Given the description of an element on the screen output the (x, y) to click on. 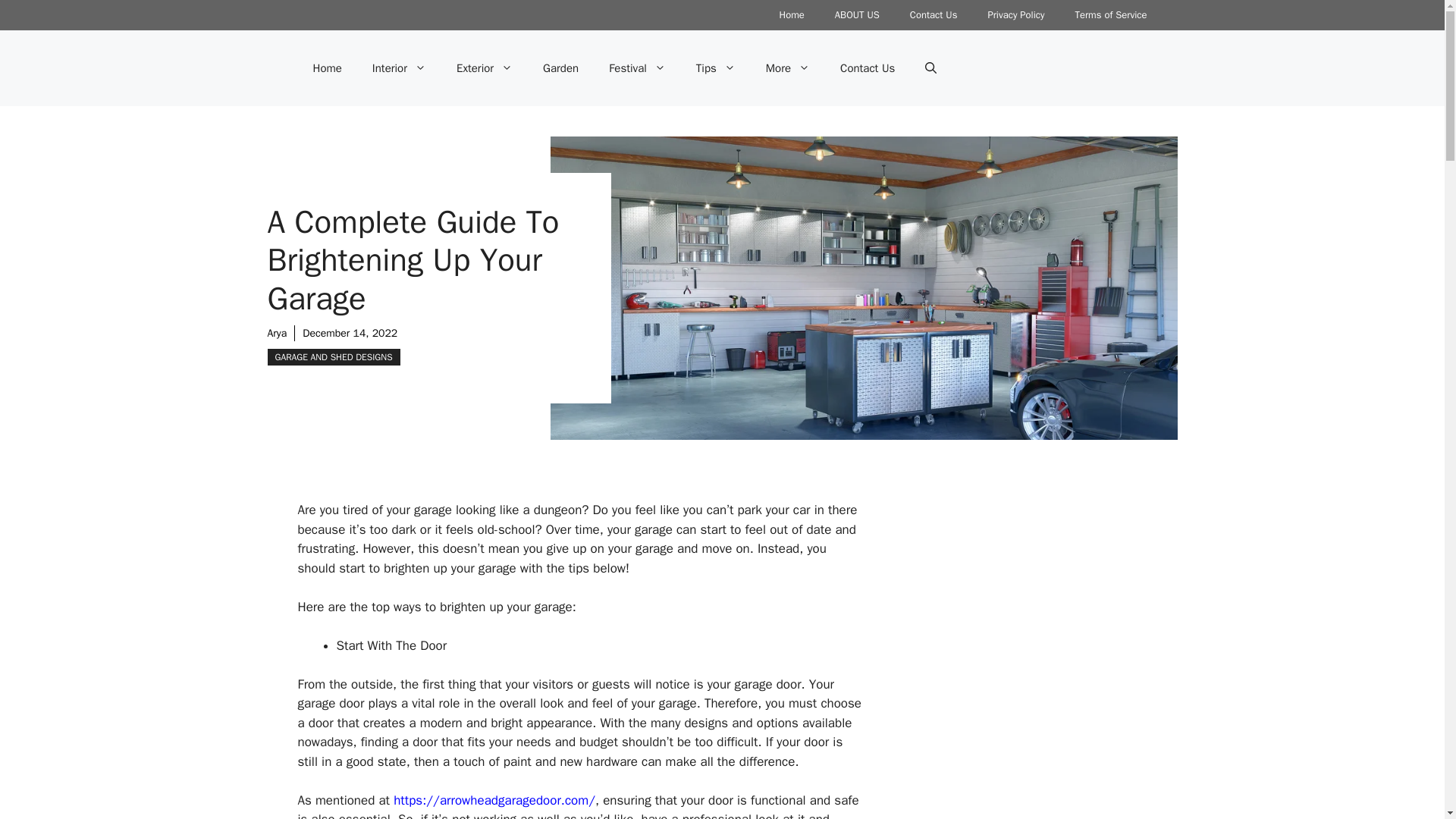
Garden (560, 67)
More (788, 67)
Interior (398, 67)
Contact Us (933, 15)
Festival (637, 67)
Home (326, 67)
Home (791, 15)
Terms of Service (1110, 15)
ABOUT US (857, 15)
Tips (716, 67)
